Given the description of an element on the screen output the (x, y) to click on. 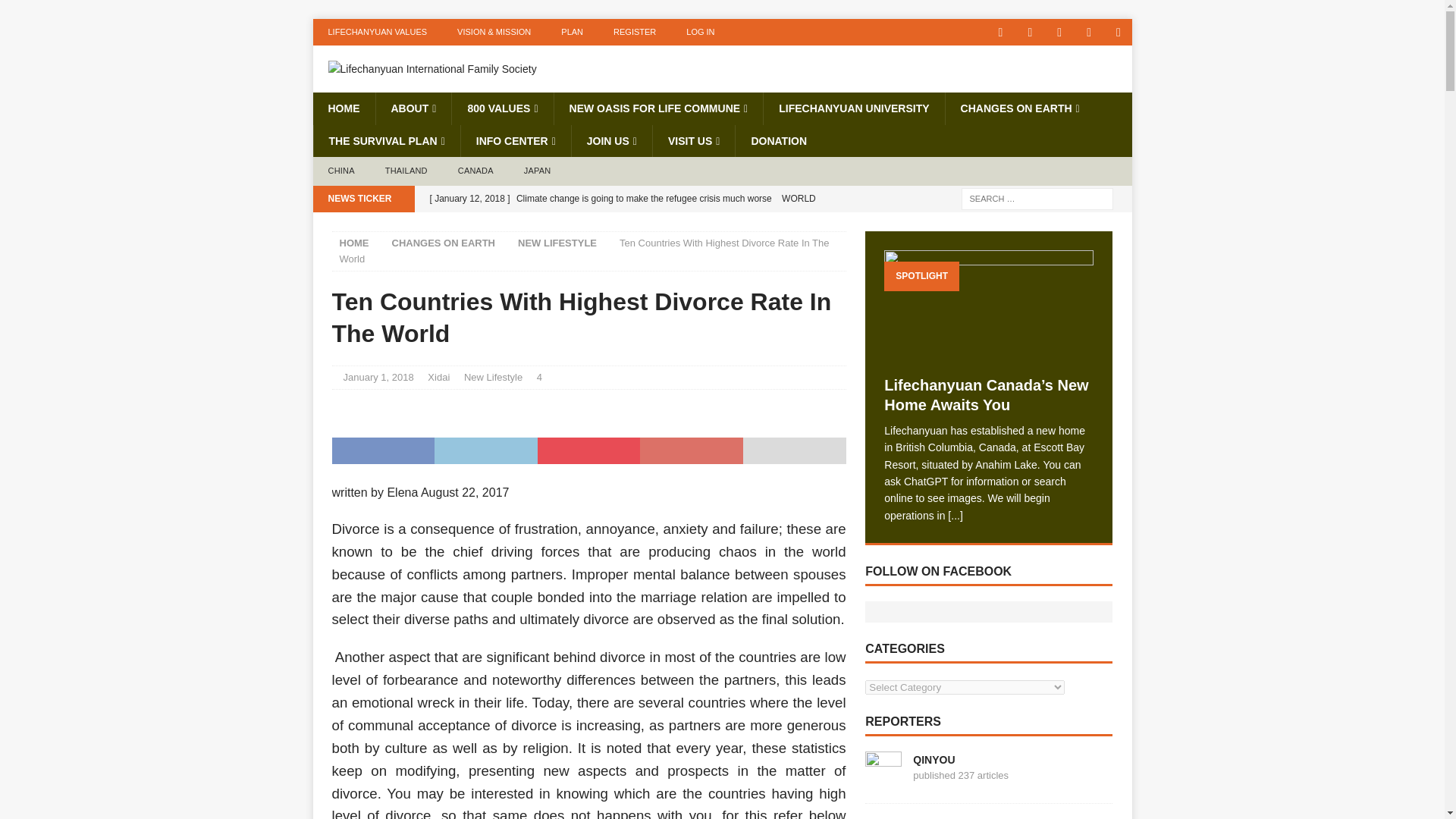
LIFECHANYUAN VALUES (377, 31)
LOG IN (700, 31)
REGISTER (634, 31)
PLAN (572, 31)
